Given the description of an element on the screen output the (x, y) to click on. 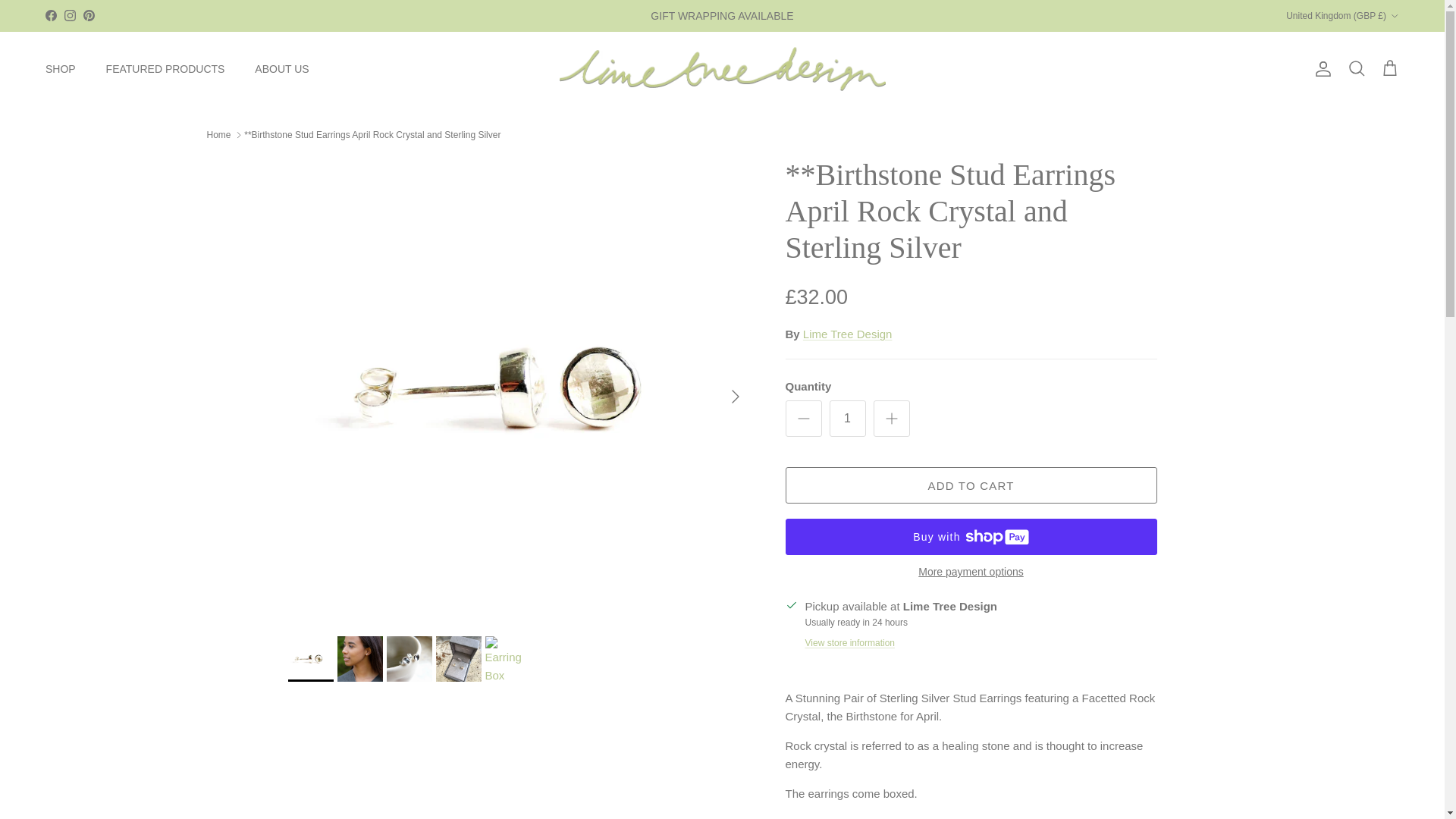
SHOP (60, 69)
Instagram (69, 15)
FEATURED PRODUCTS (165, 69)
Lime Tree Design (722, 68)
Lime Tree Design on Instagram (69, 15)
ABOUT US (281, 69)
Lime Tree Design on Pinterest (88, 15)
Pinterest (88, 15)
1 (847, 418)
Account (1319, 68)
